Given the description of an element on the screen output the (x, y) to click on. 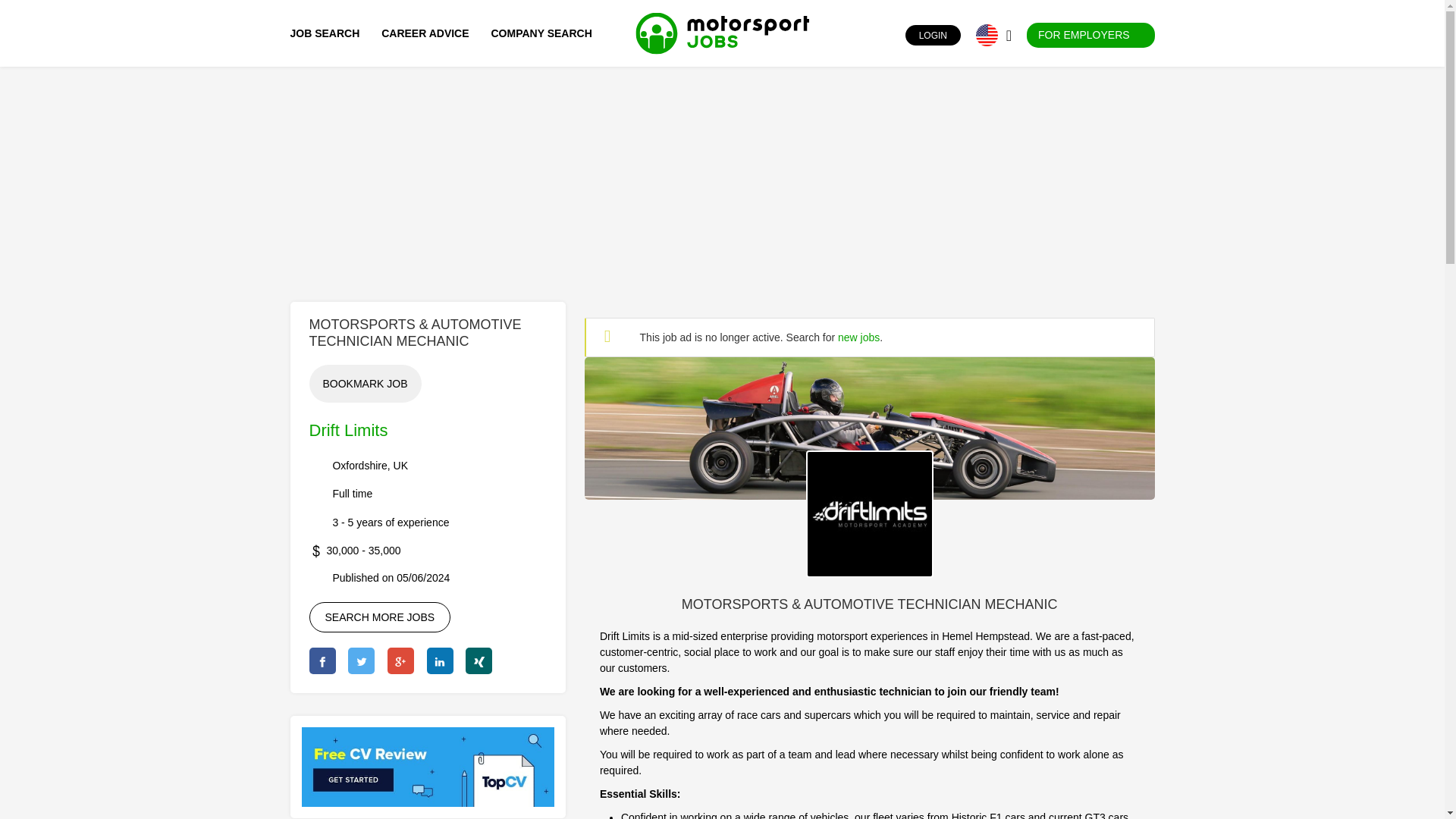
Motorsportjobs.com (721, 33)
Drift Limits (869, 427)
JOB SEARCH (327, 32)
Login (891, 35)
new jobs (858, 337)
Change language (986, 34)
SEARCH MORE JOBS (379, 616)
Drift Limits (869, 512)
Drift Limits (869, 514)
Drift Limits (869, 428)
COMPANY SEARCH (540, 32)
Drift Limits (348, 429)
FOR EMPLOYERS (1090, 34)
CAREER ADVICE (425, 32)
Bookmark job (365, 383)
